Given the description of an element on the screen output the (x, y) to click on. 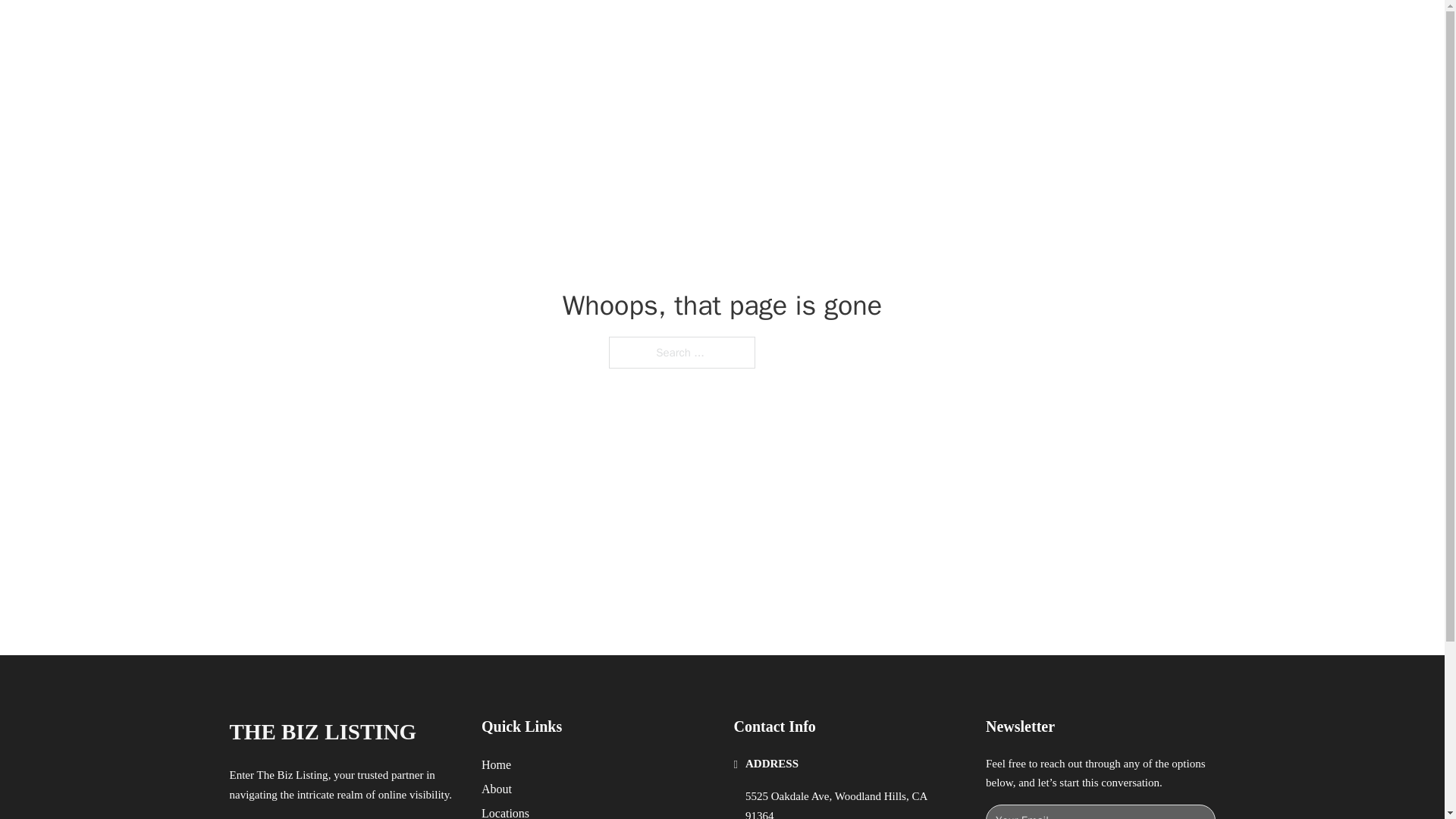
Locations (505, 811)
THE BIZ LISTING (322, 732)
About (496, 788)
THE BIZ LISTING (393, 28)
HOME (919, 29)
LOCATIONS (990, 29)
Home (496, 764)
